Given the description of an element on the screen output the (x, y) to click on. 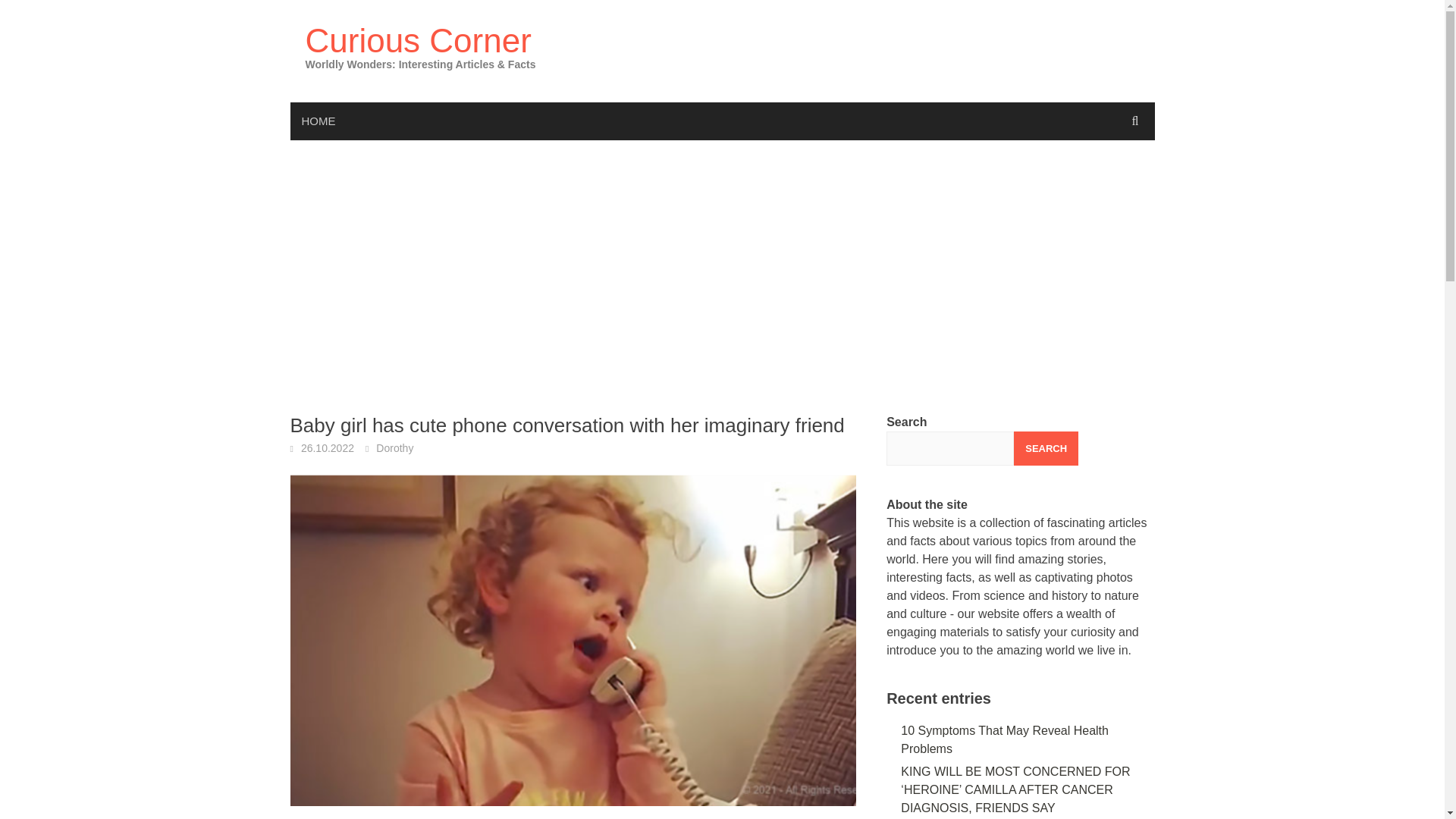
Dorothy (394, 448)
SEARCH (1045, 448)
Curious Corner (417, 40)
26.10.2022 (327, 448)
HOME (317, 121)
10 Symptoms That May Reveal Health Problems (1004, 739)
